Given the description of an element on the screen output the (x, y) to click on. 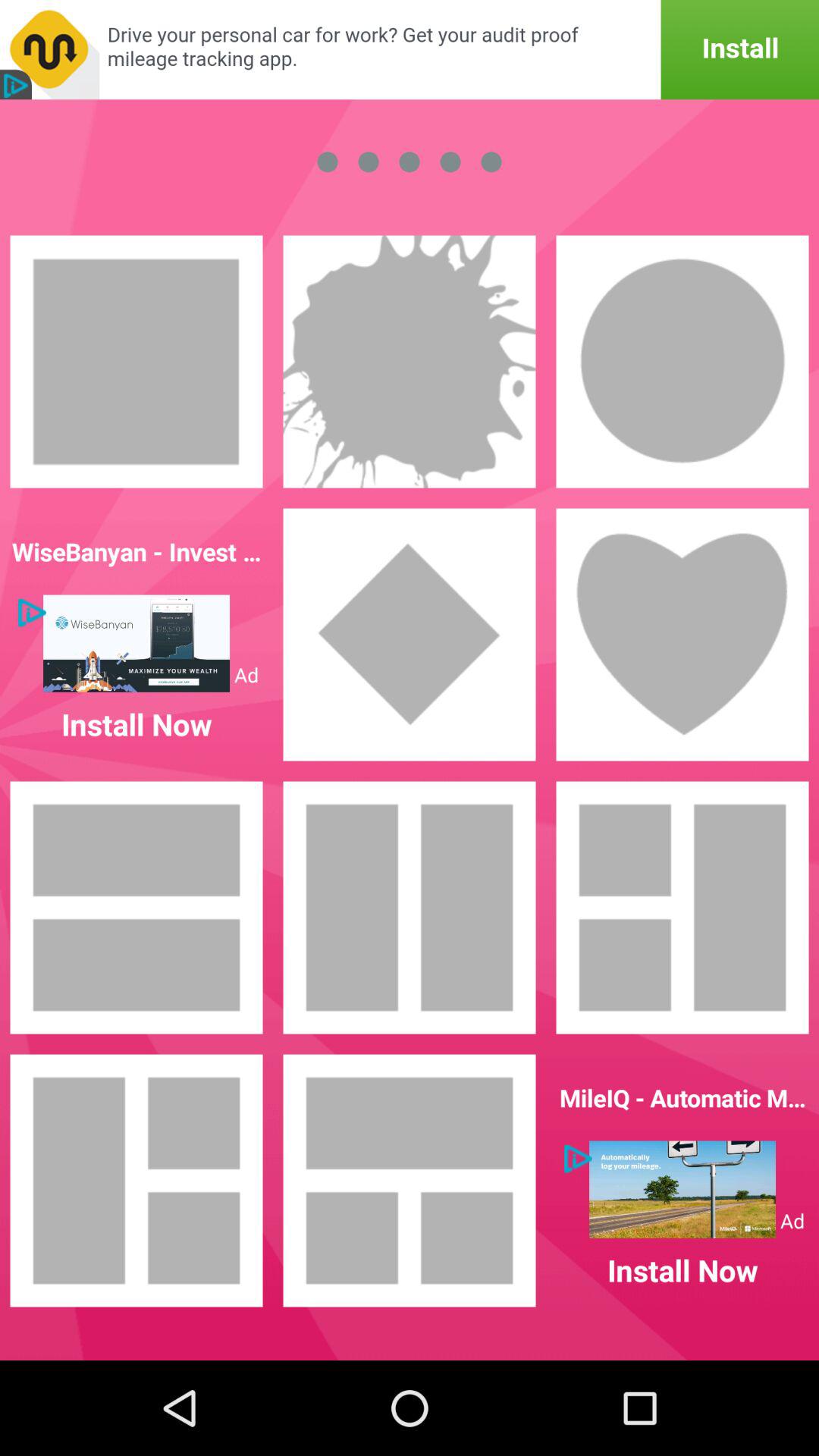
click on to view advertisement (682, 1189)
